Given the description of an element on the screen output the (x, y) to click on. 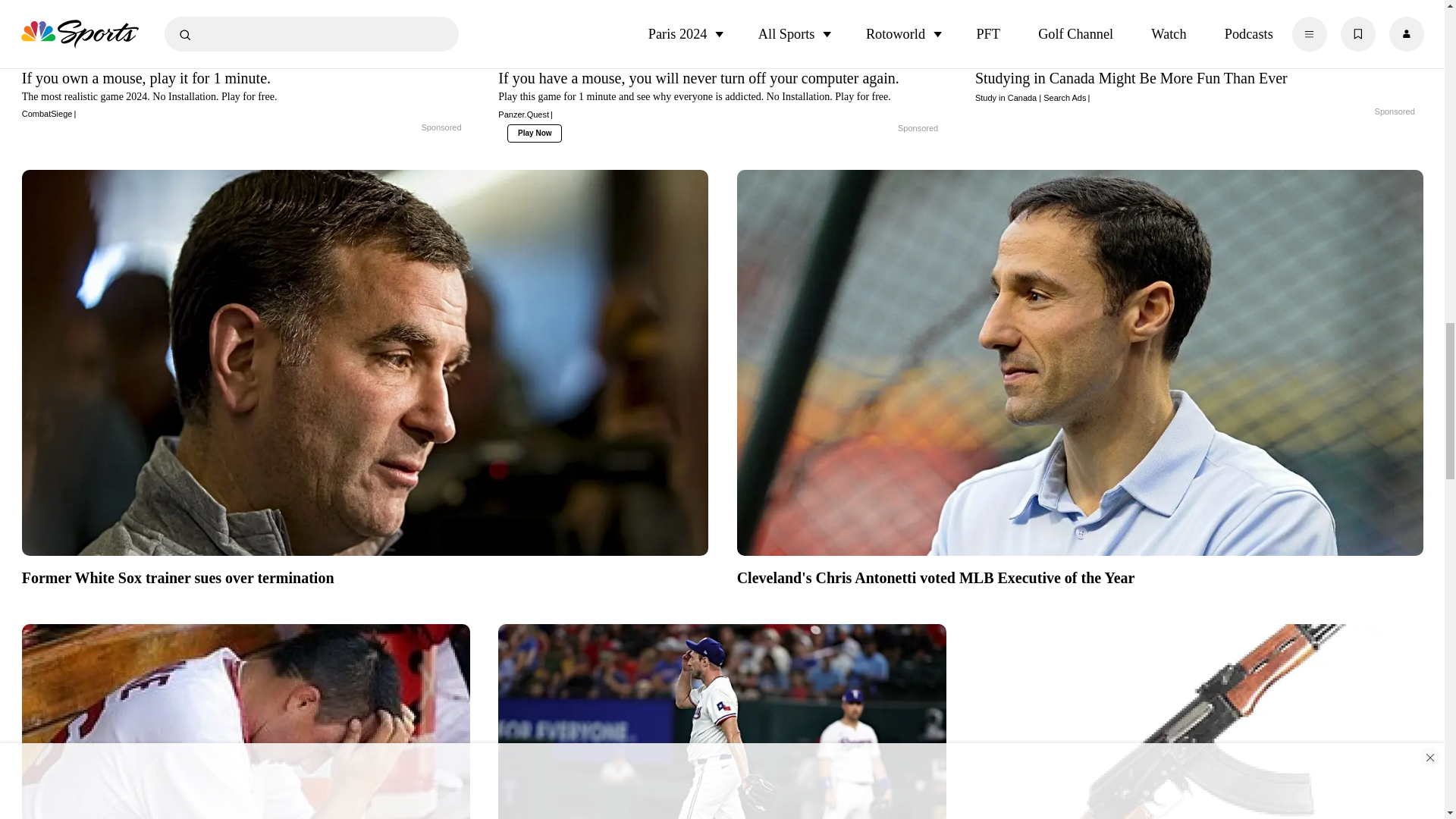
If you own a mouse, play it for 1 minute. (245, 32)
Former White Sox trainer sues over termination (364, 576)
If you own a mouse, play it for 1 minute. (404, 127)
If you own a mouse, play it for 1 minute. (245, 93)
Cleveland's Chris Antonetti voted MLB Executive of the Year (1079, 576)
